Given the description of an element on the screen output the (x, y) to click on. 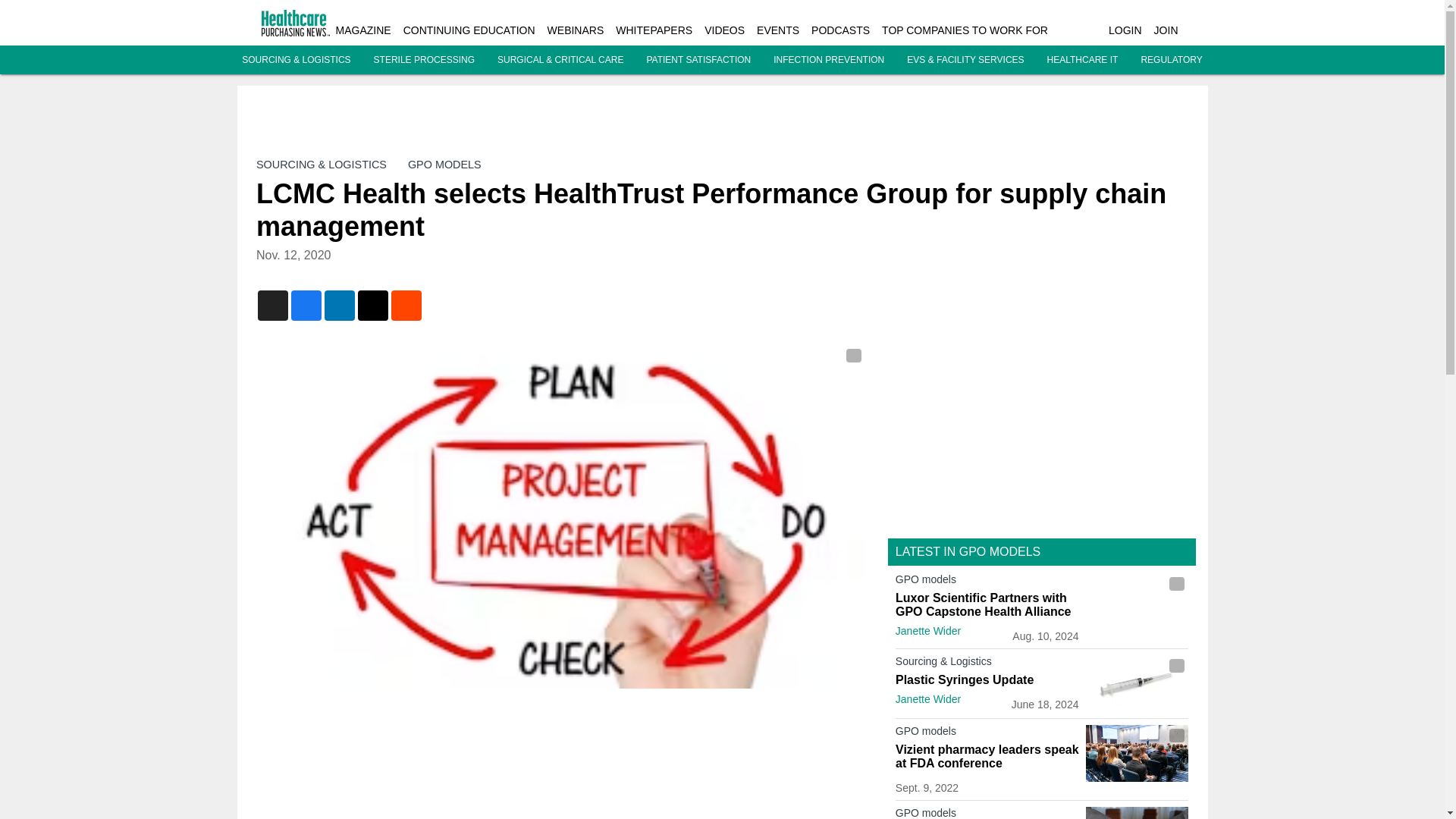
INFECTION PREVENTION (828, 59)
JOIN (1165, 30)
TOP COMPANIES TO WORK FOR (965, 30)
HEALTHCARE IT (1082, 59)
WHITEPAPERS (654, 30)
CONTINUING EDUCATION (469, 30)
STERILE PROCESSING (424, 59)
VIDEOS (724, 30)
PATIENT SATISFACTION (698, 59)
Image by Gerd Altmann from Pixabay (1137, 812)
